Given the description of an element on the screen output the (x, y) to click on. 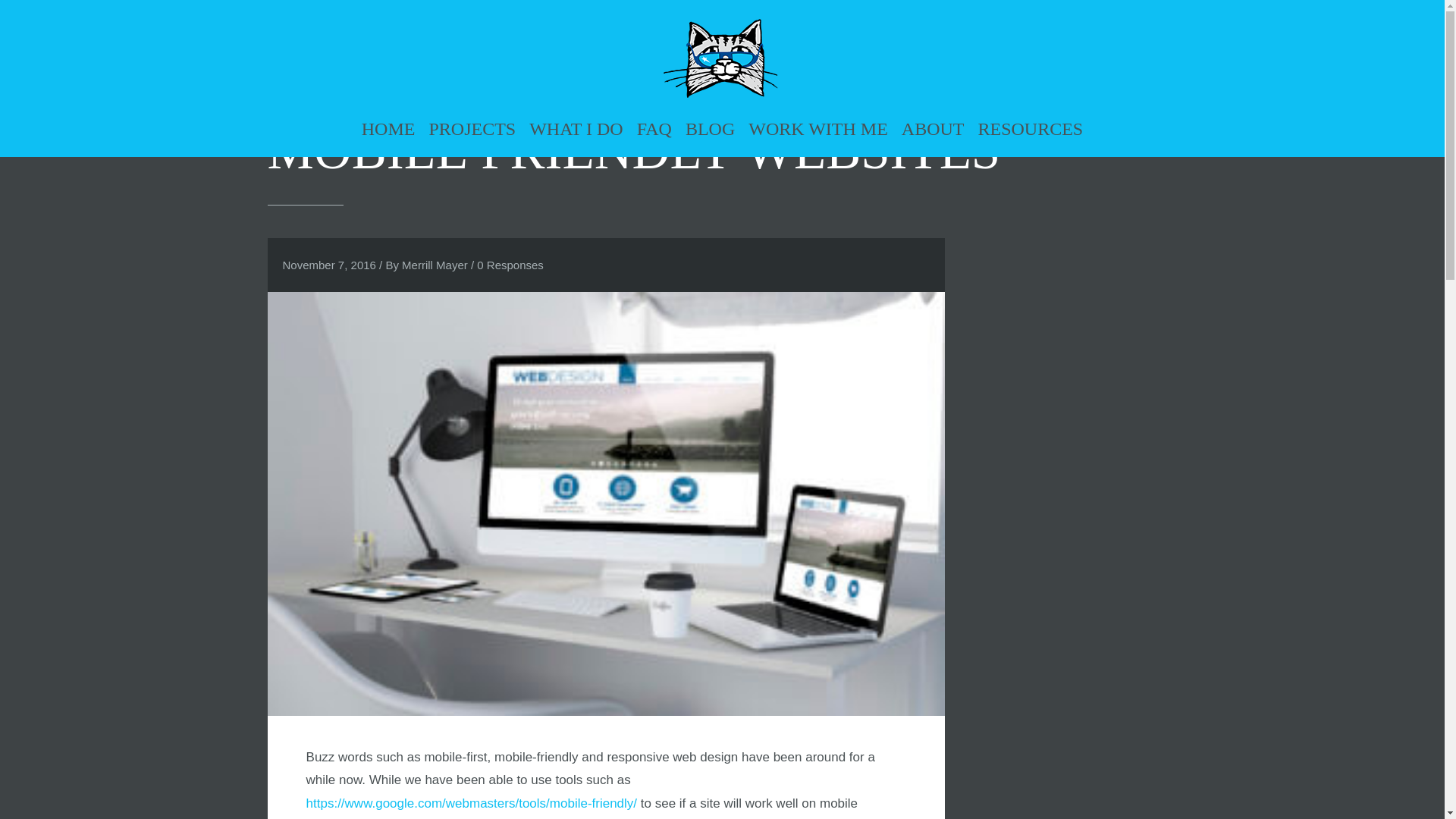
BLOG (710, 126)
PROJECTS (471, 126)
RESOURCES (1029, 126)
Merrill Mayer (434, 264)
HOME (387, 126)
Go to Home (721, 59)
WHAT I DO (576, 126)
ABOUT (932, 126)
Posts by Merrill Mayer (434, 264)
WORK WITH ME (818, 126)
